Given the description of an element on the screen output the (x, y) to click on. 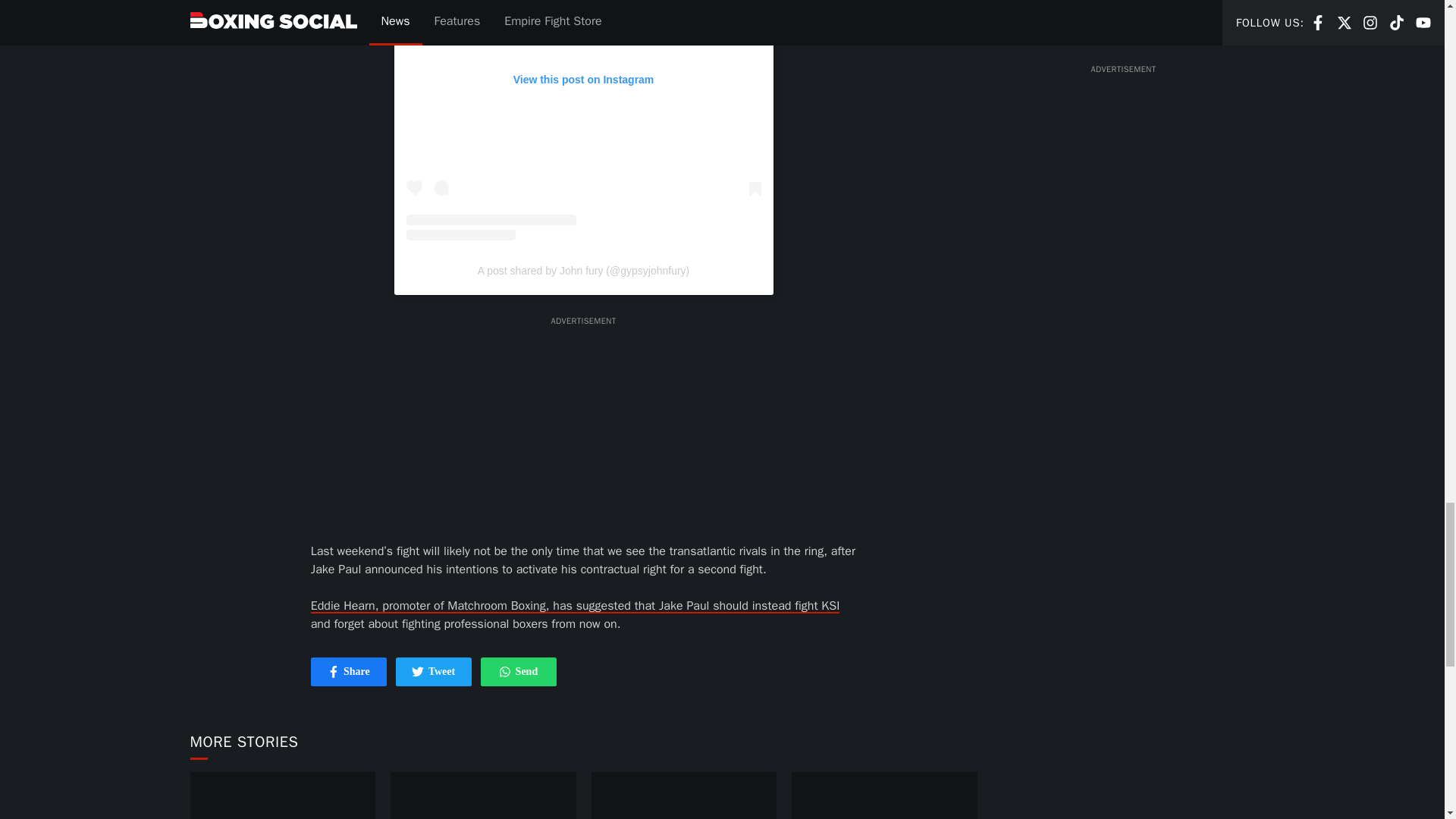
WhatsApp (433, 672)
Facebook (505, 671)
Twitter (349, 672)
View this post on Instagram (333, 671)
